Given the description of an element on the screen output the (x, y) to click on. 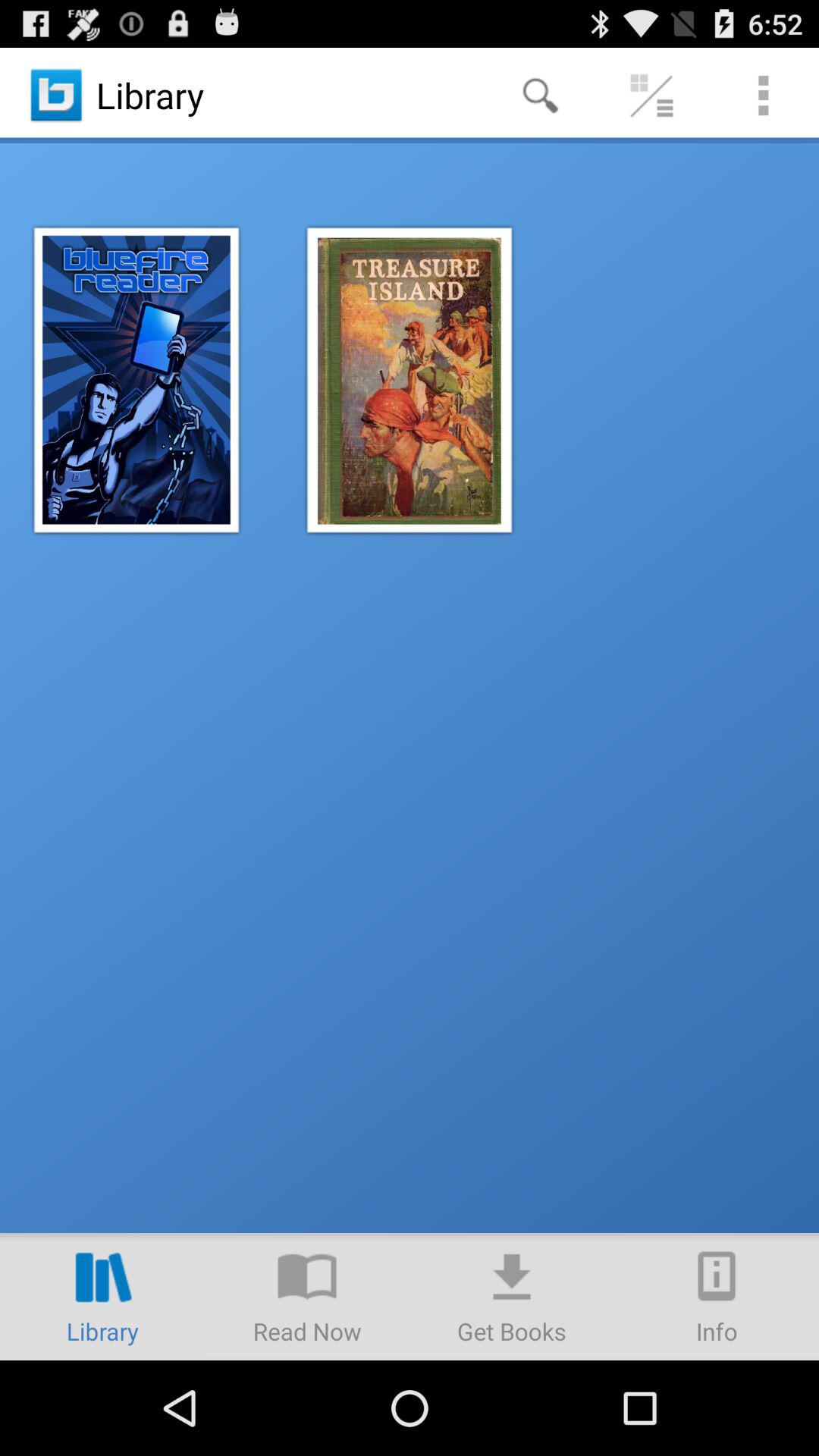
view more information (716, 1296)
